Given the description of an element on the screen output the (x, y) to click on. 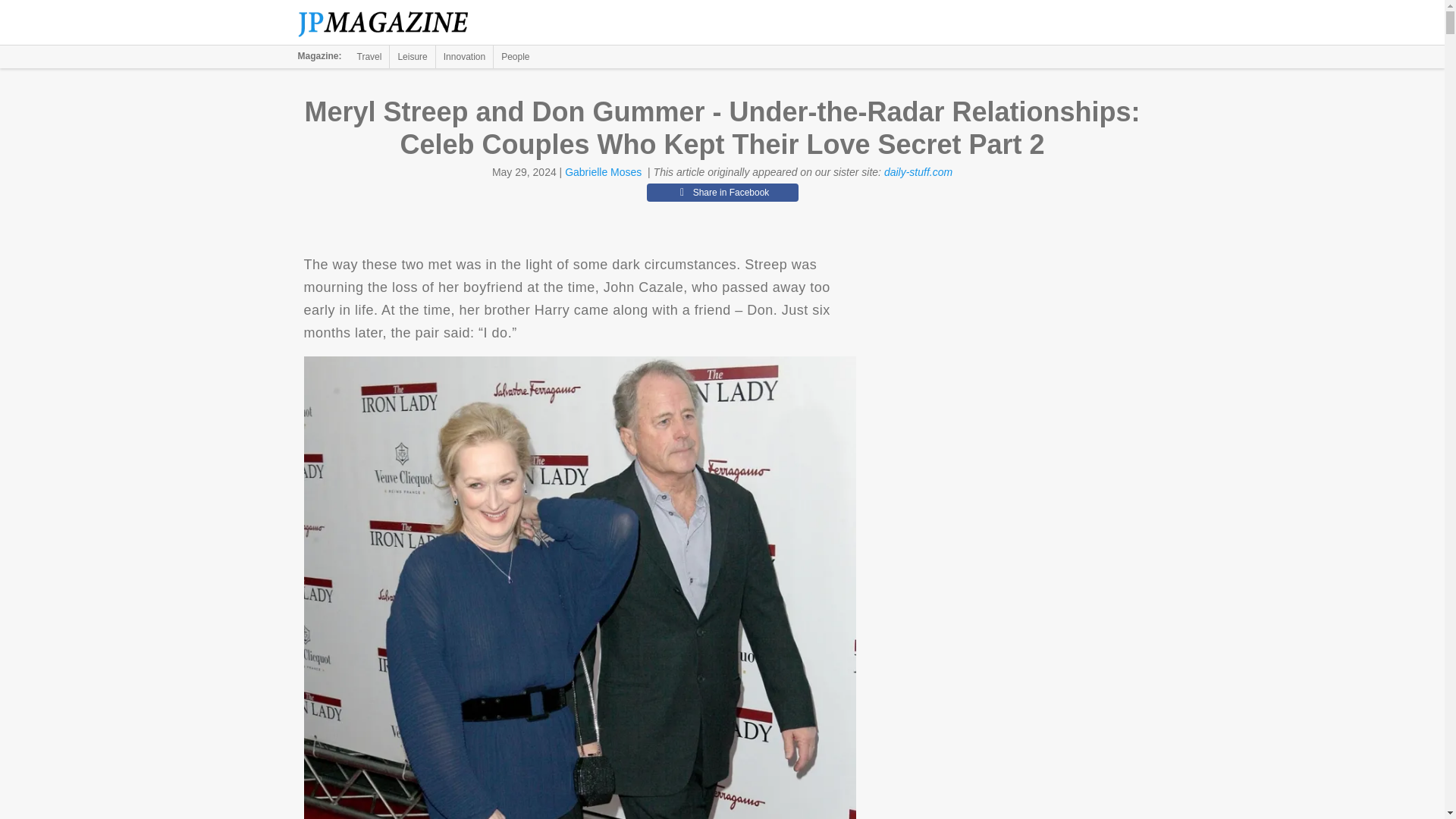
The Jerusalem Post Magazine (391, 22)
Share in Facebook (721, 192)
daily-stuff.com (917, 172)
Innovation (464, 56)
People (515, 56)
Leisure (411, 56)
Gabrielle Moses (603, 172)
Travel (369, 56)
